Given the description of an element on the screen output the (x, y) to click on. 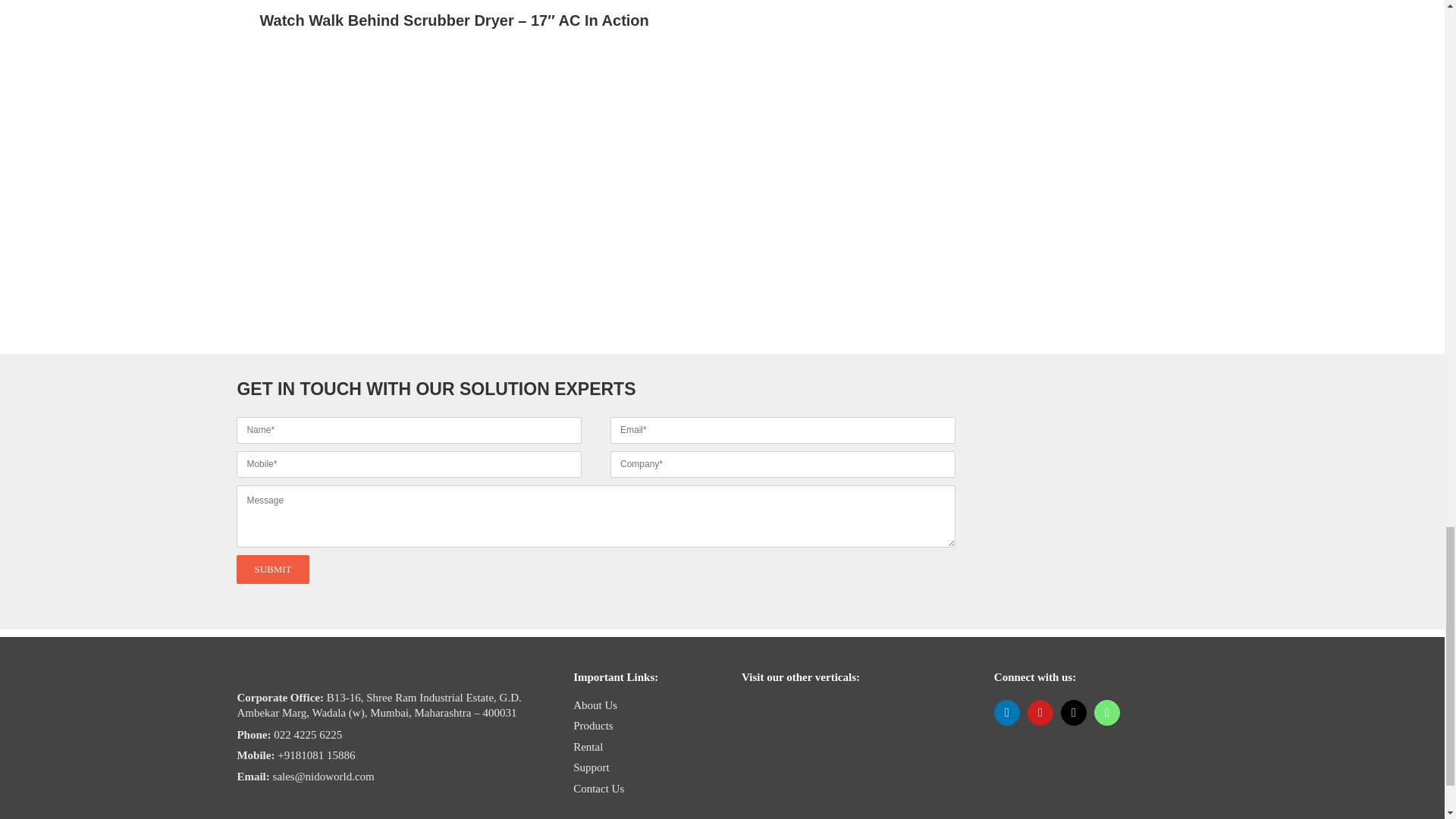
YouTube (1039, 712)
X (1073, 712)
LinkedIn (1007, 712)
SUBMIT (595, 541)
YouTube video player 1 (486, 460)
WhatsApp (1106, 712)
